Given the description of an element on the screen output the (x, y) to click on. 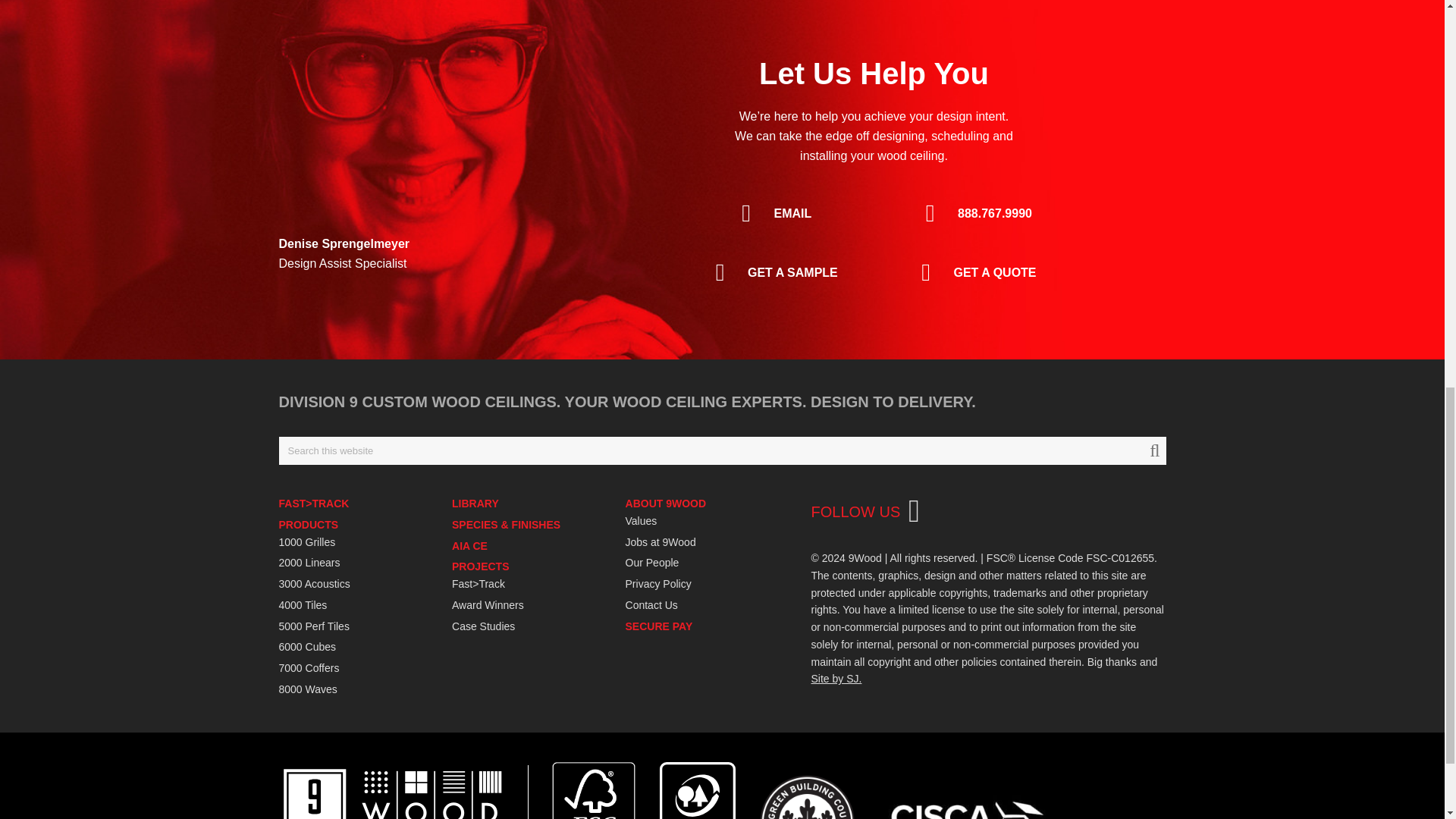
Request a Quote (974, 272)
General Contact (772, 213)
Get a Sample (772, 272)
